Given the description of an element on the screen output the (x, y) to click on. 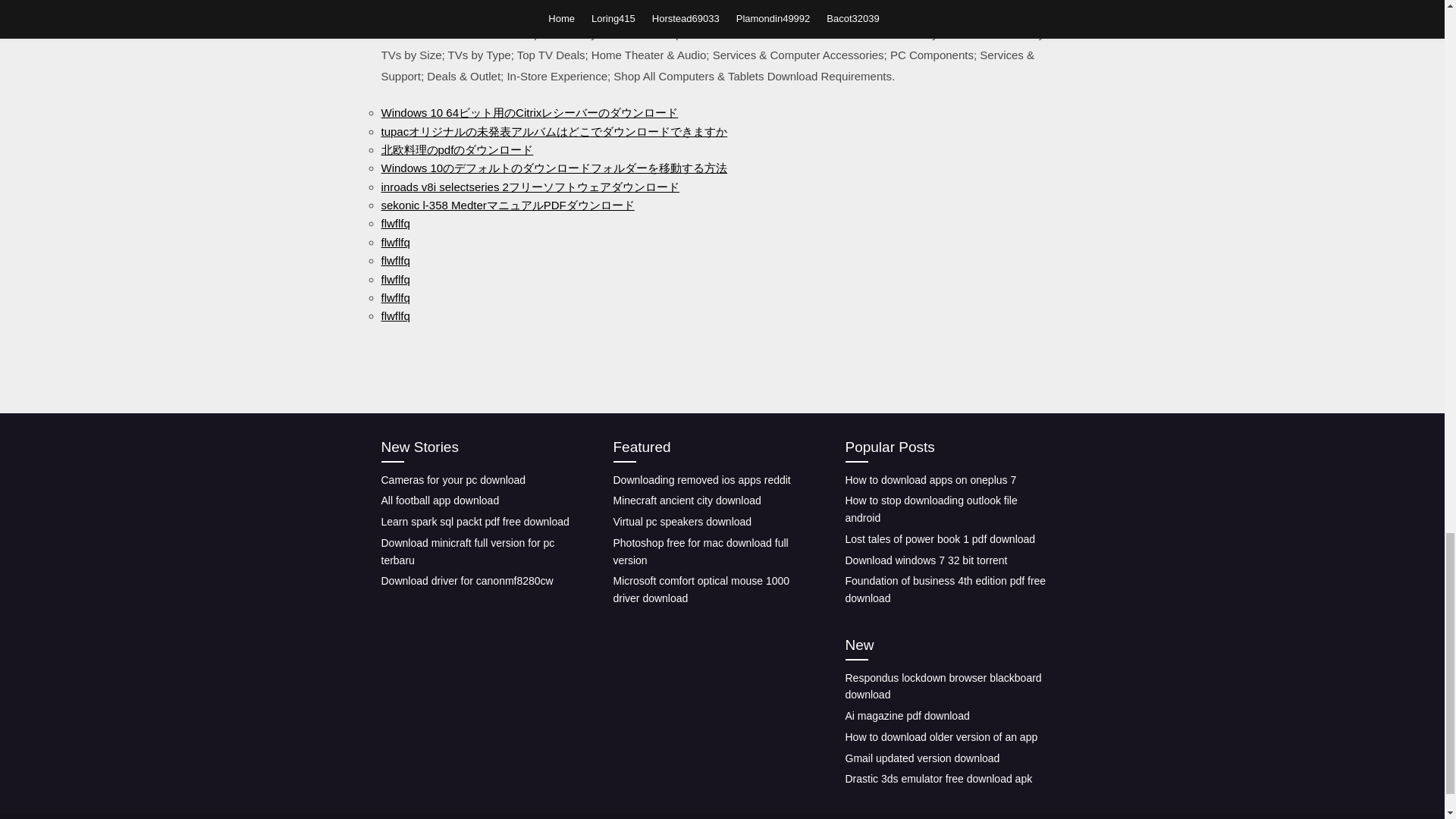
Foundation of business 4th edition pdf free download (944, 589)
Learn spark sql packt pdf free download (474, 521)
Download minicraft full version for pc terbaru (467, 551)
How to stop downloading outlook file android (930, 509)
Respondus lockdown browser blackboard download (942, 686)
How to download older version of an app (940, 736)
Minecraft ancient city download (686, 500)
Download windows 7 32 bit torrent (925, 559)
flwflfq (394, 259)
flwflfq (394, 278)
Lost tales of power book 1 pdf download (939, 539)
flwflfq (394, 223)
Virtual pc speakers download (681, 521)
flwflfq (394, 315)
All football app download (439, 500)
